Given the description of an element on the screen output the (x, y) to click on. 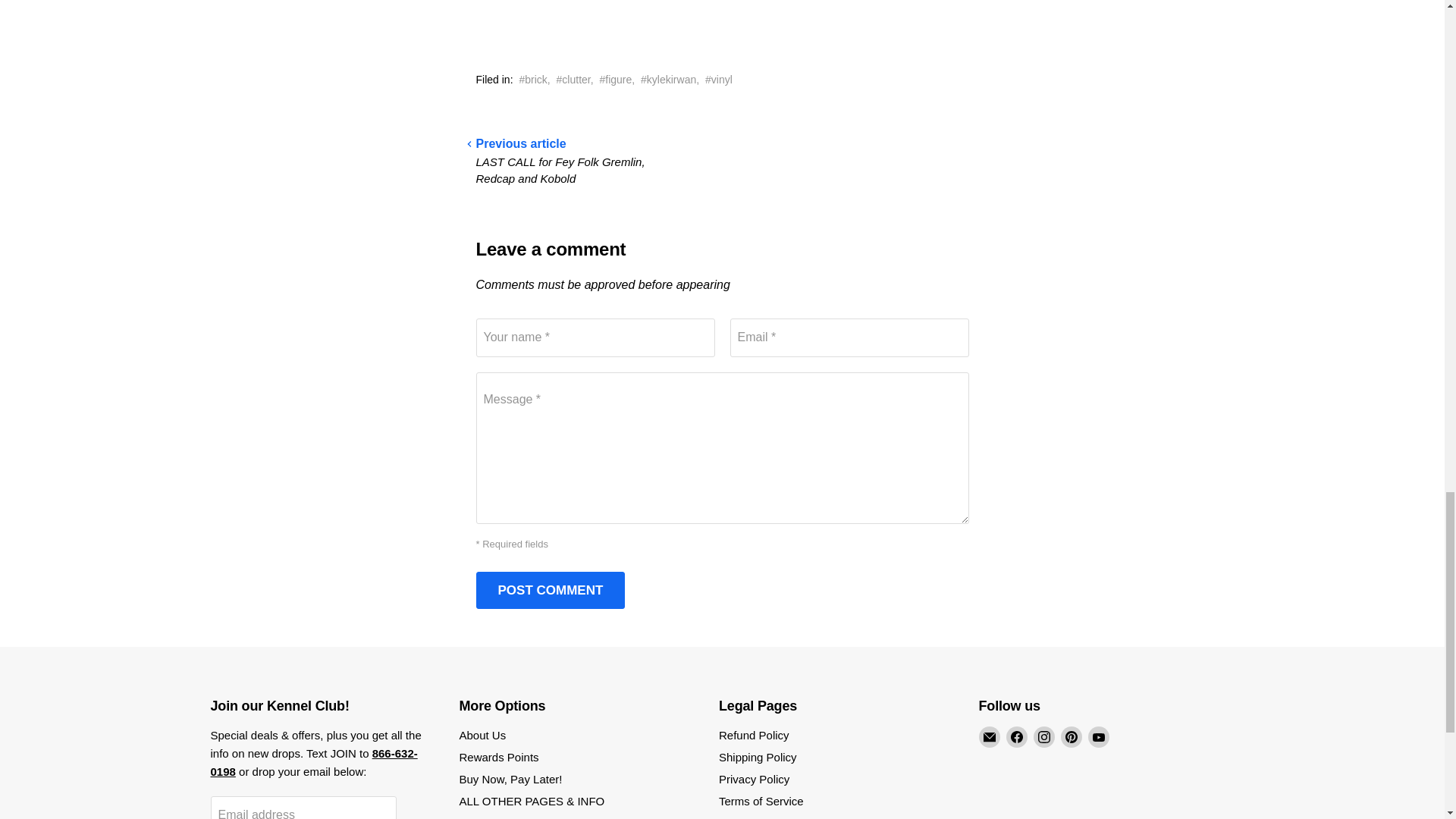
Links (314, 762)
Pinterest (1070, 736)
Instagram (1043, 736)
YouTube (1097, 736)
Facebook (1016, 736)
Email (988, 736)
